Given the description of an element on the screen output the (x, y) to click on. 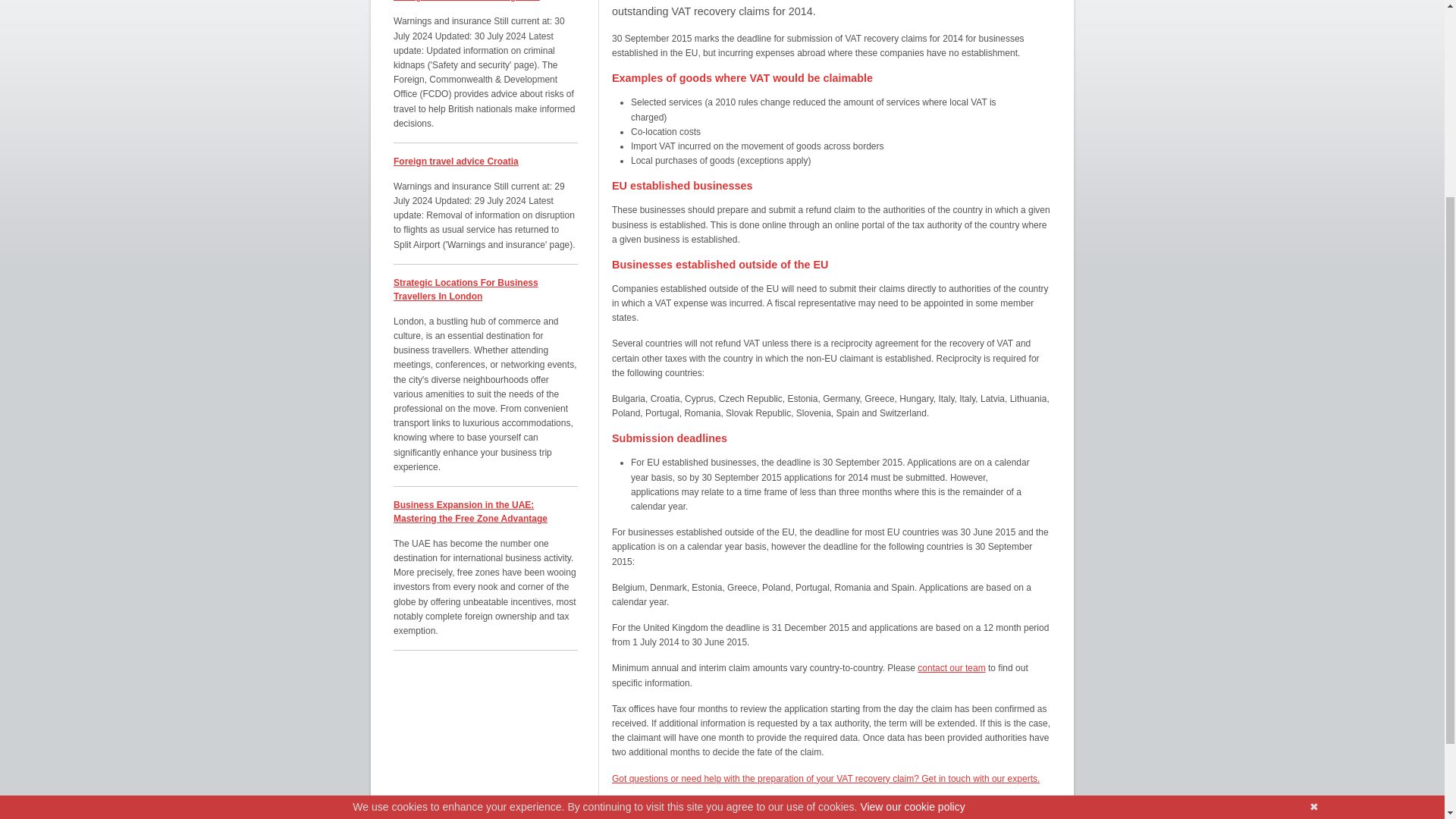
Strategic Locations For Business Travellers In London (465, 289)
Foreign travel advice Croatia (455, 161)
contact our team (951, 667)
View our cookie policy (911, 527)
